Given the description of an element on the screen output the (x, y) to click on. 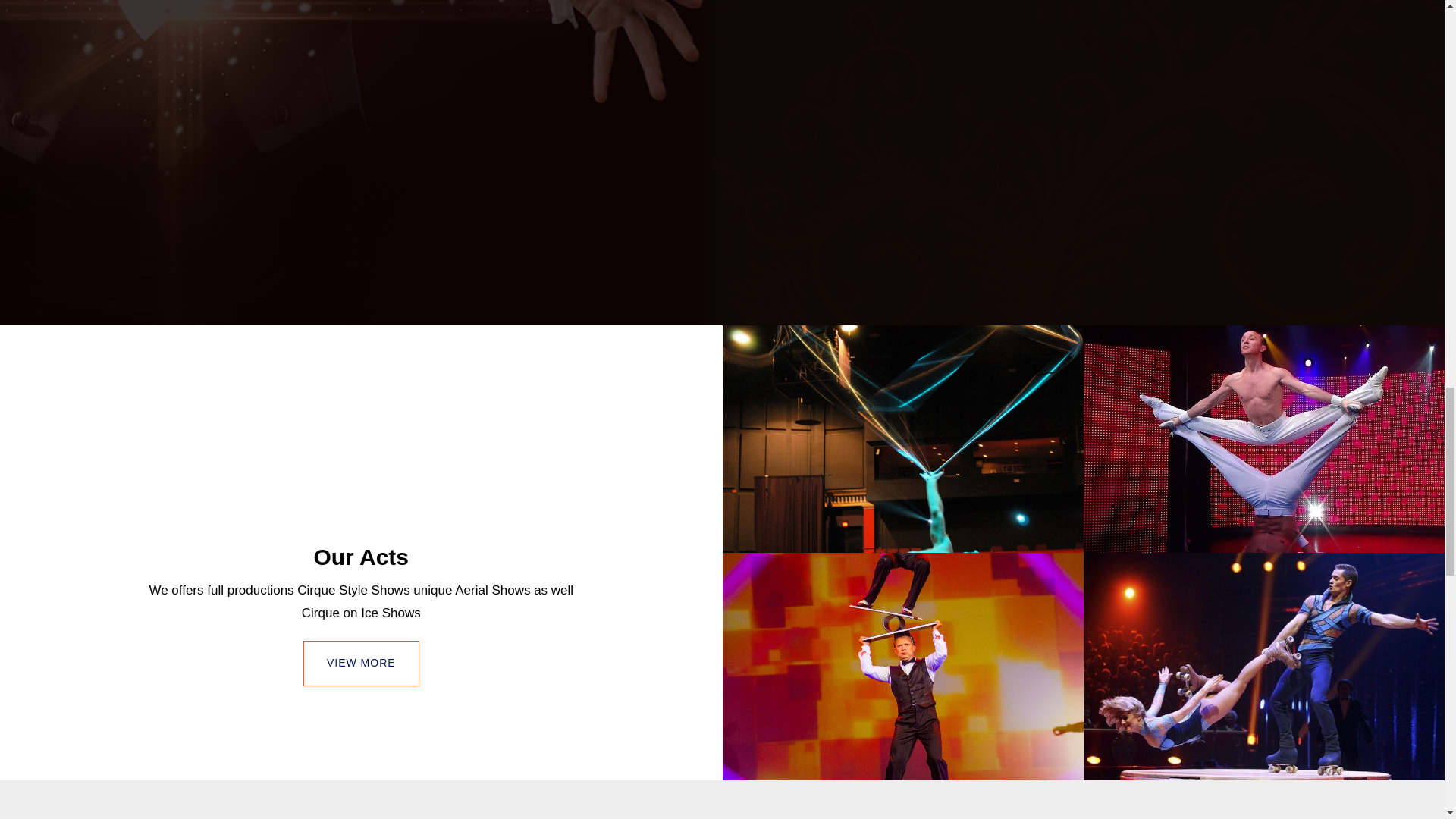
VIEW MORE (360, 663)
